Given the description of an element on the screen output the (x, y) to click on. 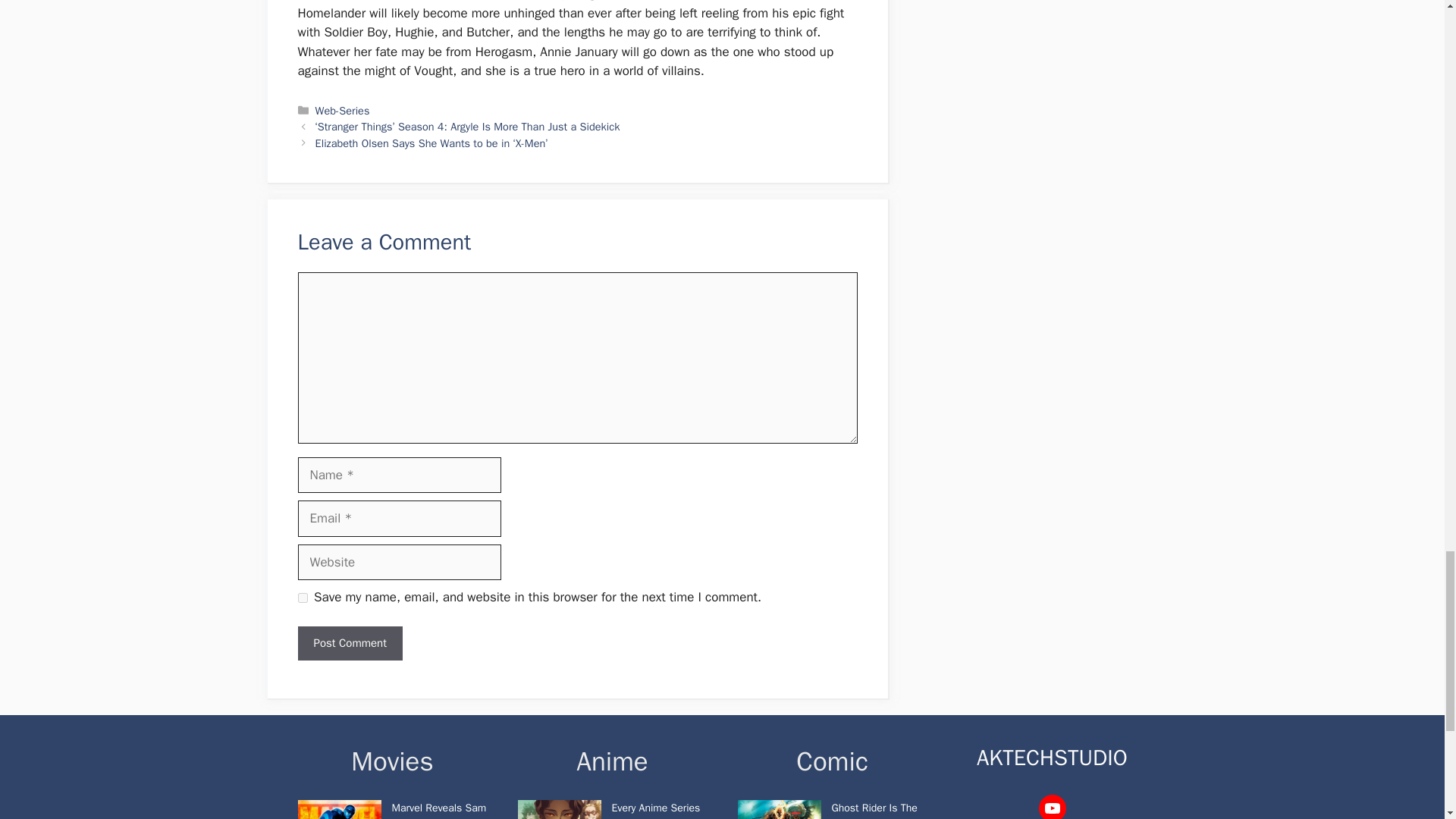
Post Comment (349, 643)
Web-Series (342, 110)
yes (302, 597)
Post Comment (349, 643)
